Given the description of an element on the screen output the (x, y) to click on. 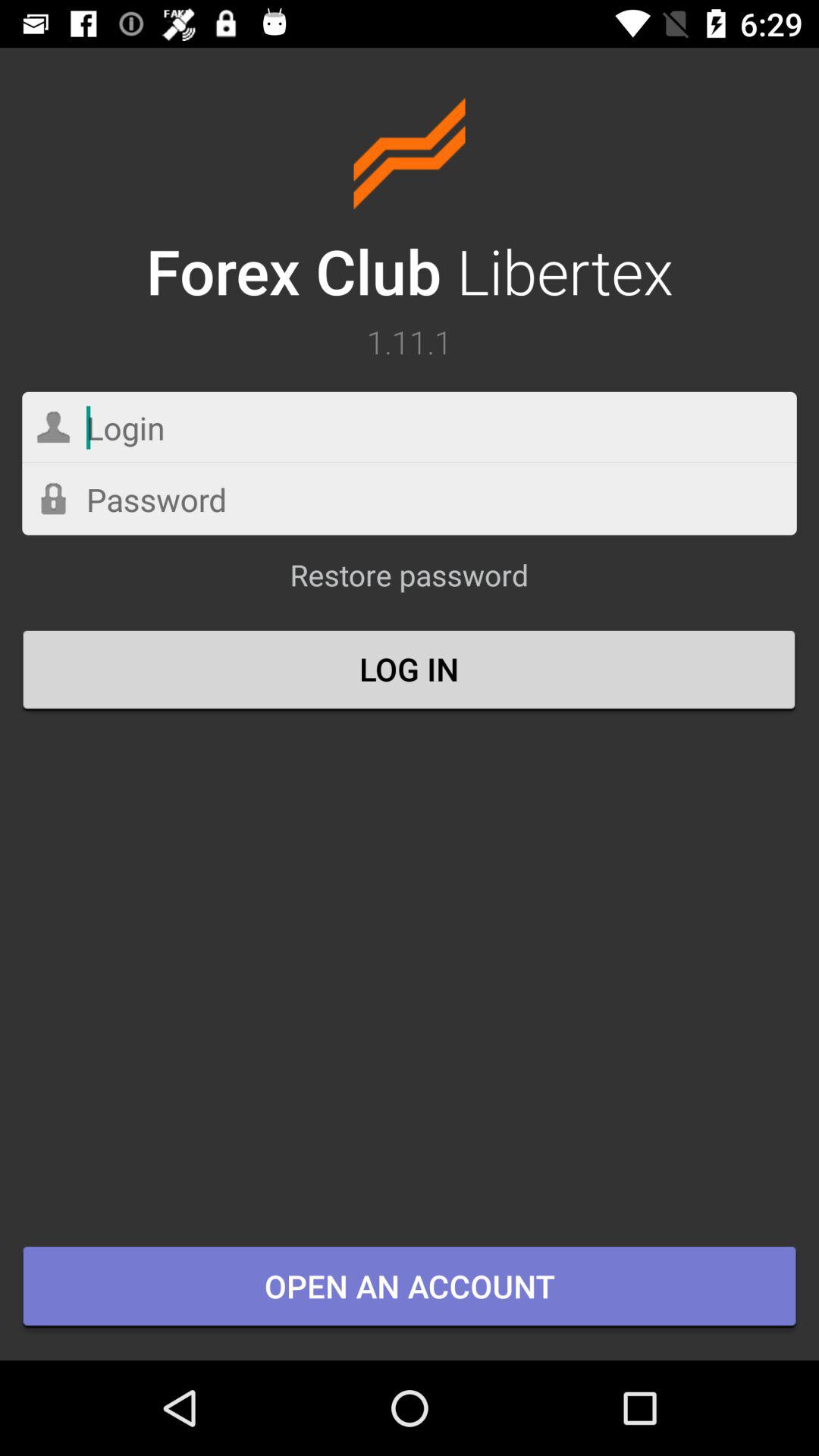
go to account created (409, 499)
